Given the description of an element on the screen output the (x, y) to click on. 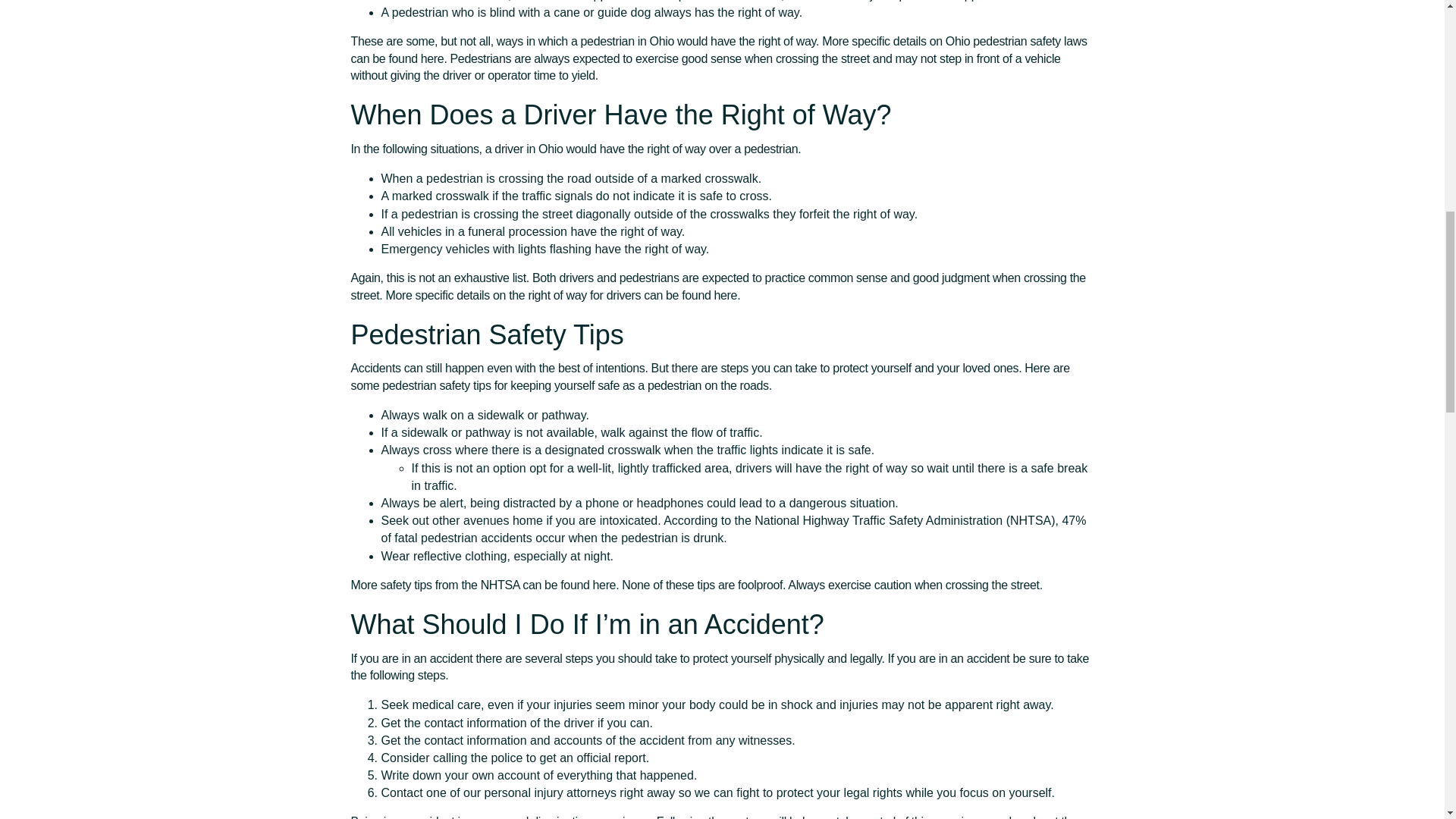
right of way for drivers (583, 294)
safety tips from the NHTSA (449, 584)
Ohio pedestrian safety laws (1015, 41)
